Given the description of an element on the screen output the (x, y) to click on. 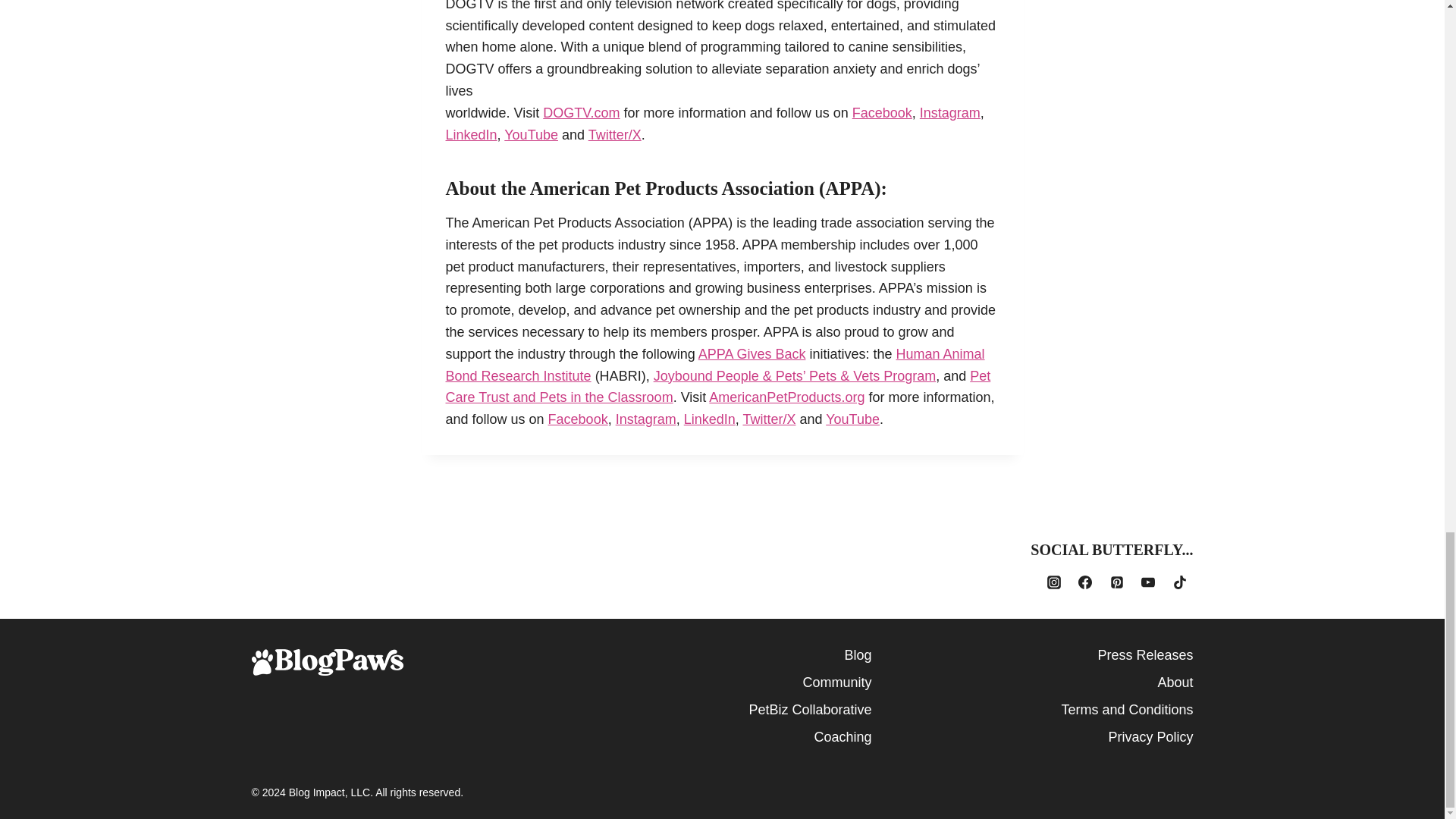
Facebook (881, 112)
LinkedIn (471, 134)
DOGTV.com (581, 112)
Instagram (949, 112)
Human Animal Bond Research Institute (715, 365)
AmericanPetProducts.org (786, 396)
Facebook (578, 418)
Pet Care Trust and Pets in the Classroom (718, 386)
YouTube (530, 134)
APPA Gives Back (752, 353)
LinkedIn (709, 418)
Instagram (646, 418)
